Given the description of an element on the screen output the (x, y) to click on. 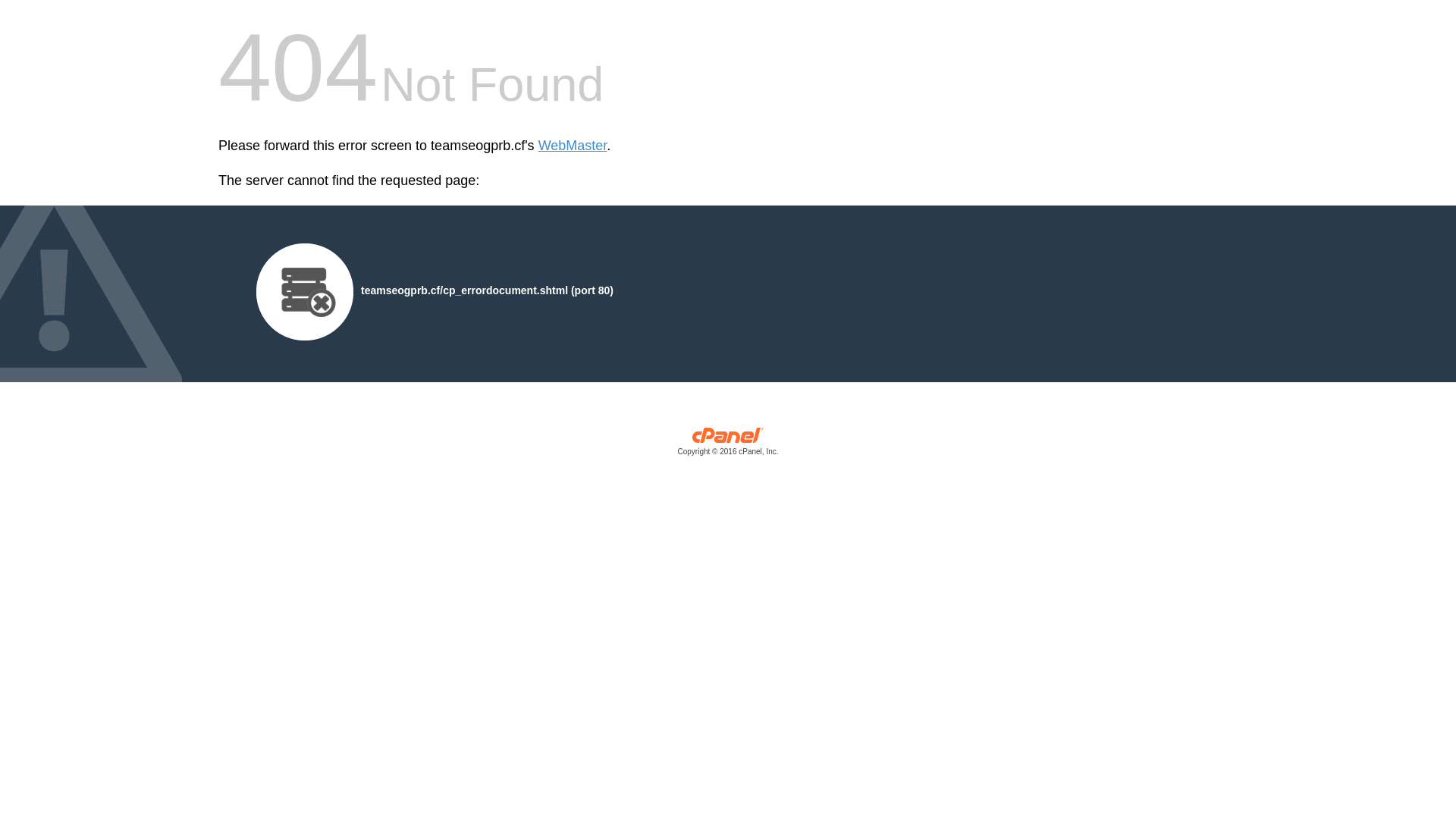
WebMaster Element type: text (572, 145)
